Given the description of an element on the screen output the (x, y) to click on. 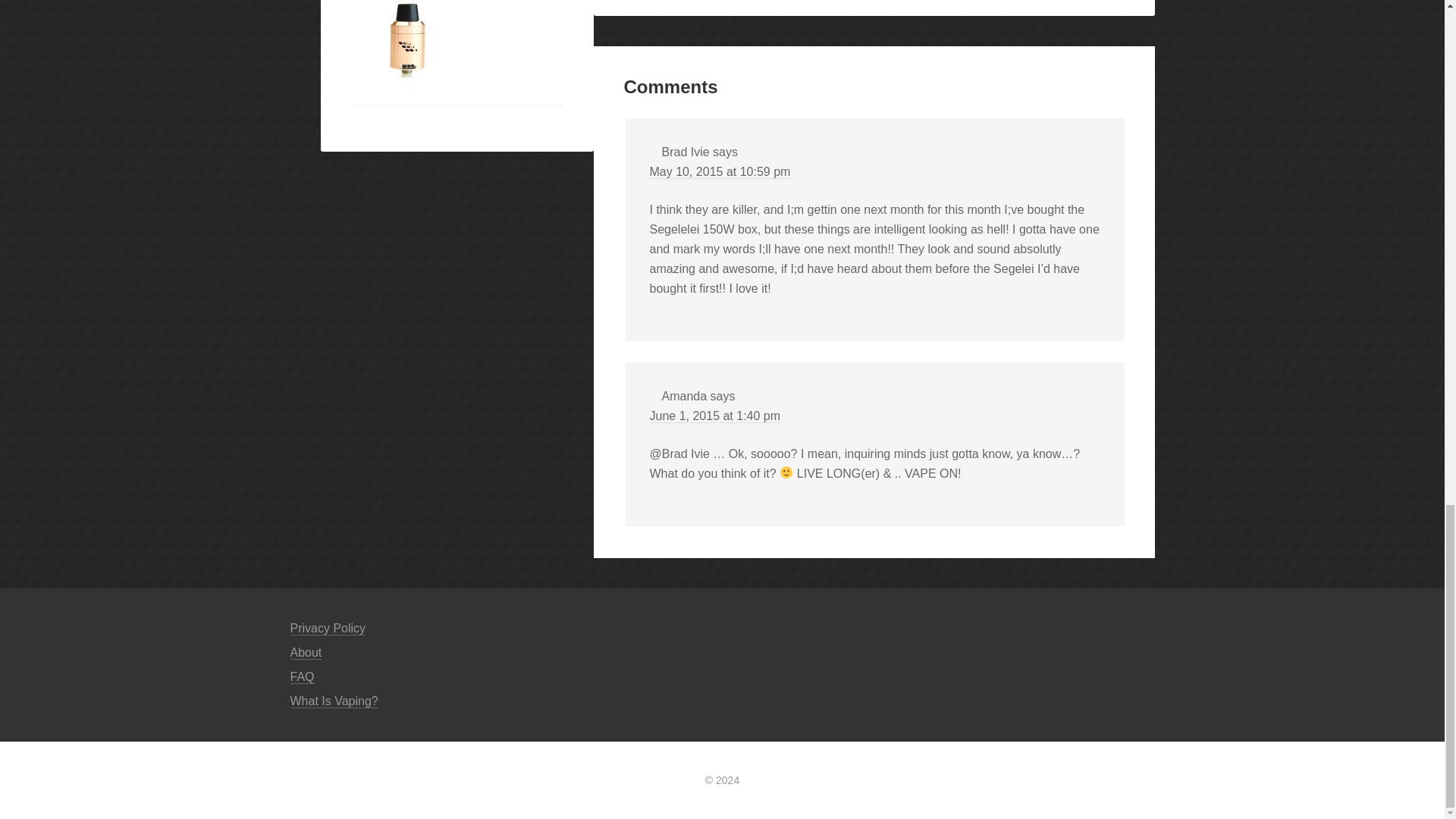
What Is Vaping? (333, 701)
Privacy Policy (327, 628)
About (305, 653)
FAQ (301, 676)
June 1, 2015 at 1:40 pm (714, 416)
Mutation X RDA from Indulgence (407, 43)
May 10, 2015 at 10:59 pm (719, 172)
